Given the description of an element on the screen output the (x, y) to click on. 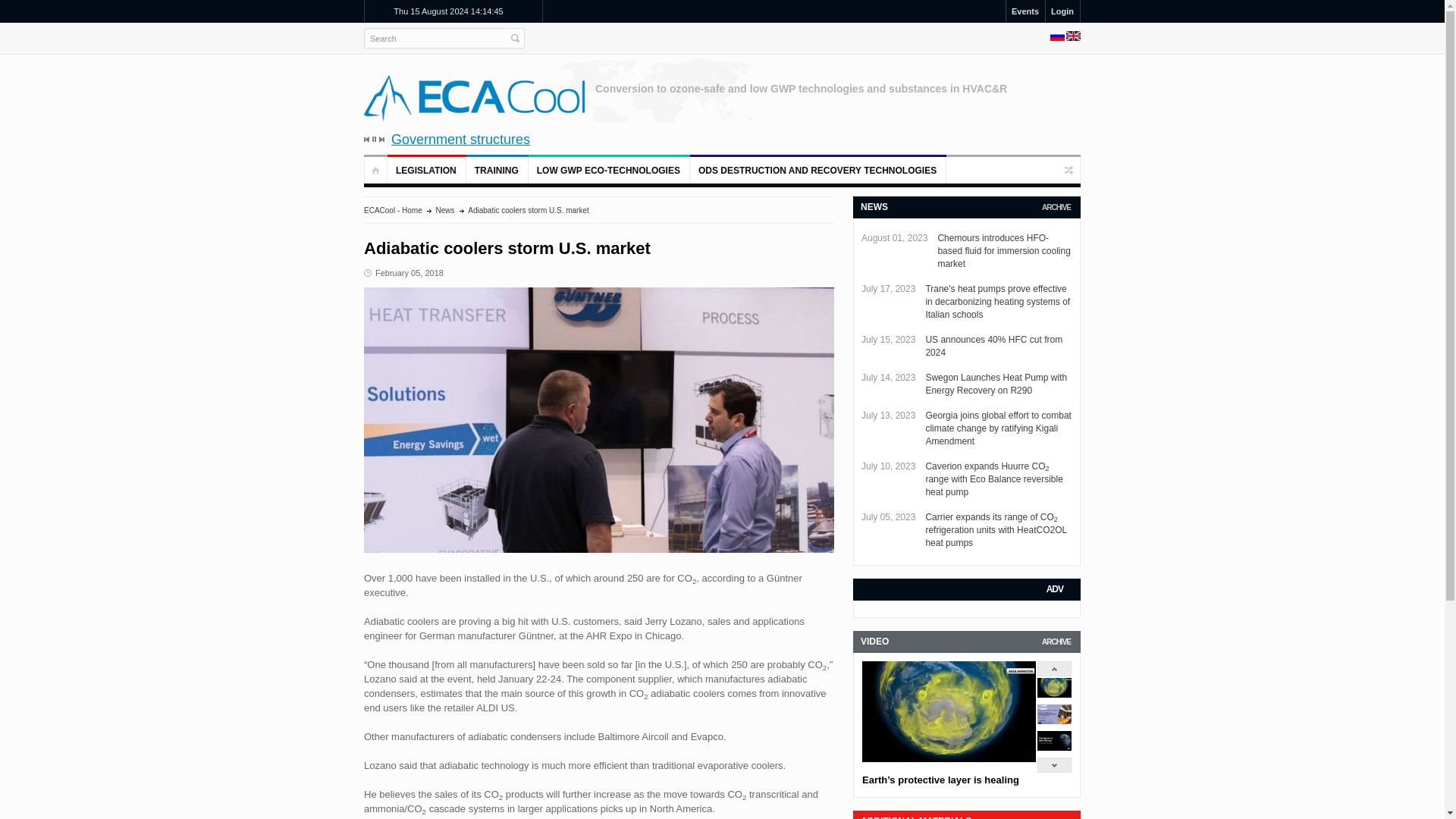
Login (1062, 10)
ECACool (474, 98)
English wersion (1072, 38)
ODS DESTRUCTION AND RECOVERY TECHNOLOGIES (818, 170)
LEGISLATION (426, 170)
Events (1025, 10)
Government structures (749, 139)
The future of heat pumps (1053, 747)
LOW GWP ECO-TECHNOLOGIES (609, 170)
